Given the description of an element on the screen output the (x, y) to click on. 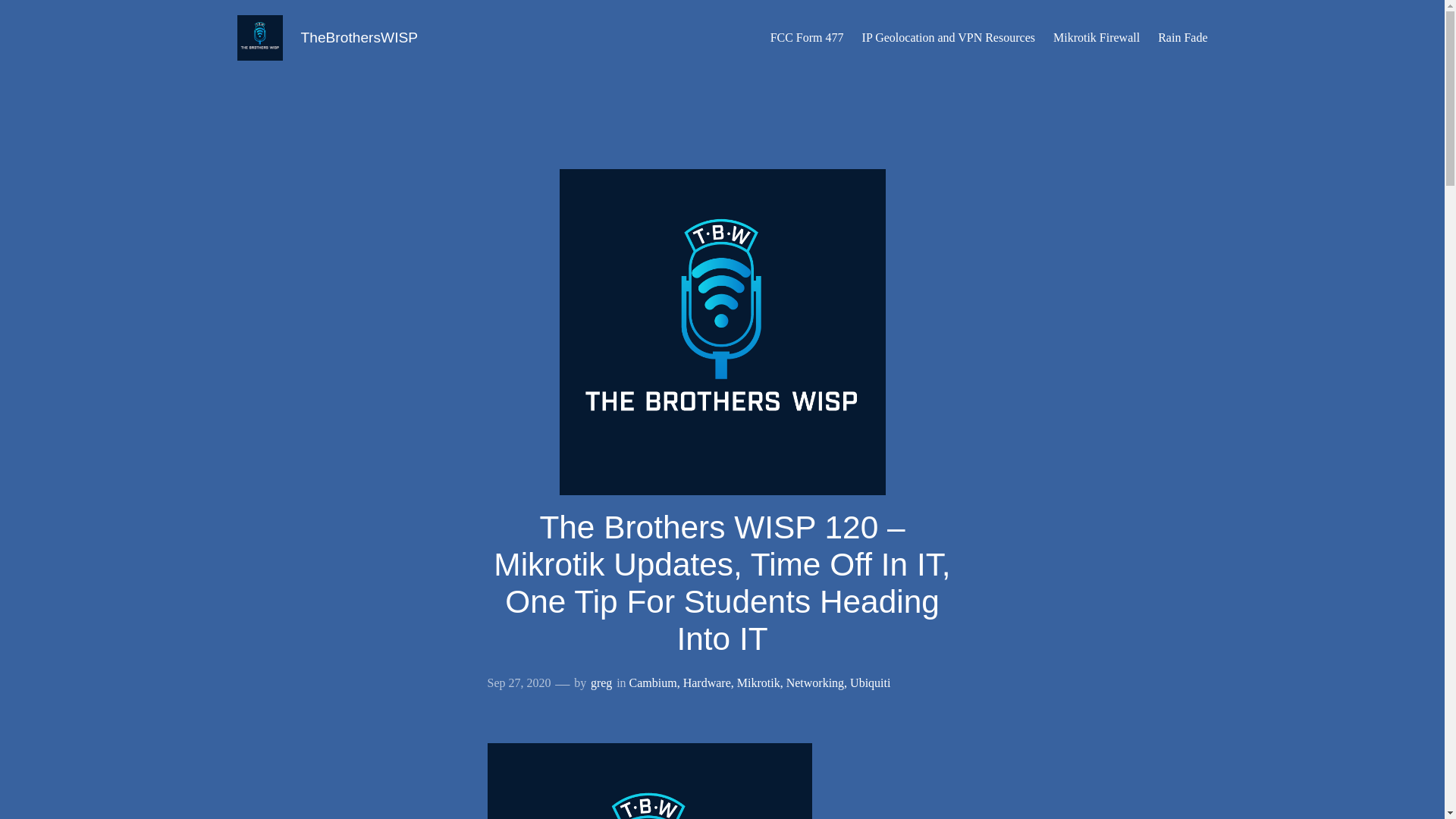
FCC Form 477 (807, 37)
Cambium (652, 682)
Networking (815, 682)
TheBrothersWISP (358, 37)
Sep 27, 2020 (518, 682)
greg (601, 682)
Rain Fade (1182, 37)
IP Geolocation and VPN Resources (948, 37)
Mikrotik (758, 682)
Ubiquiti (869, 682)
